Given the description of an element on the screen output the (x, y) to click on. 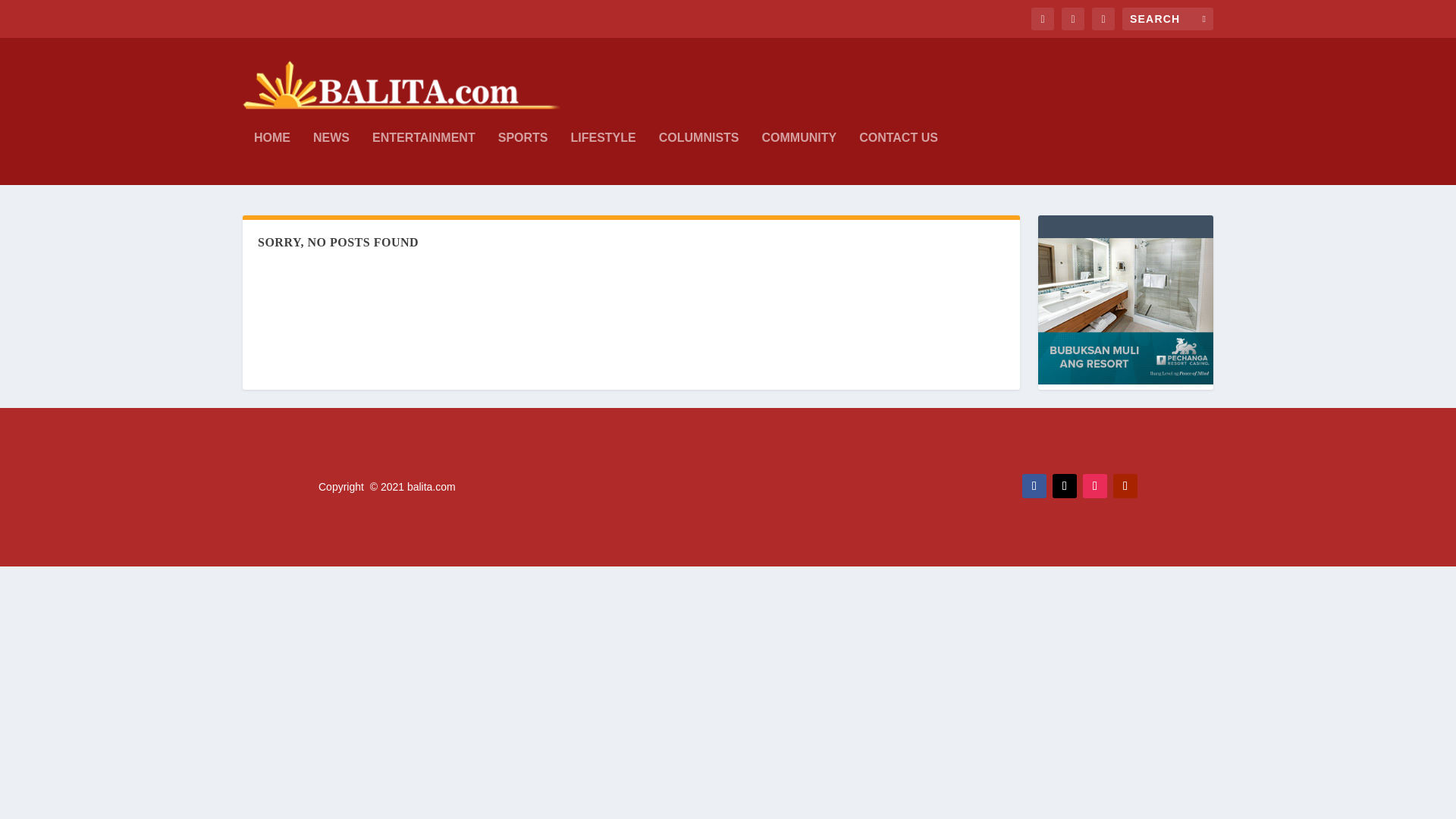
ENTERTAINMENT (424, 158)
Search for: (1167, 18)
CONTACT US (898, 158)
COLUMNISTS (699, 158)
Follow on Instagram (1094, 485)
SPORTS (522, 158)
Follow on X (1064, 485)
LIFESTYLE (602, 158)
COMMUNITY (799, 158)
Follow on Youtube (1125, 485)
Follow on Facebook (1034, 485)
